Given the description of an element on the screen output the (x, y) to click on. 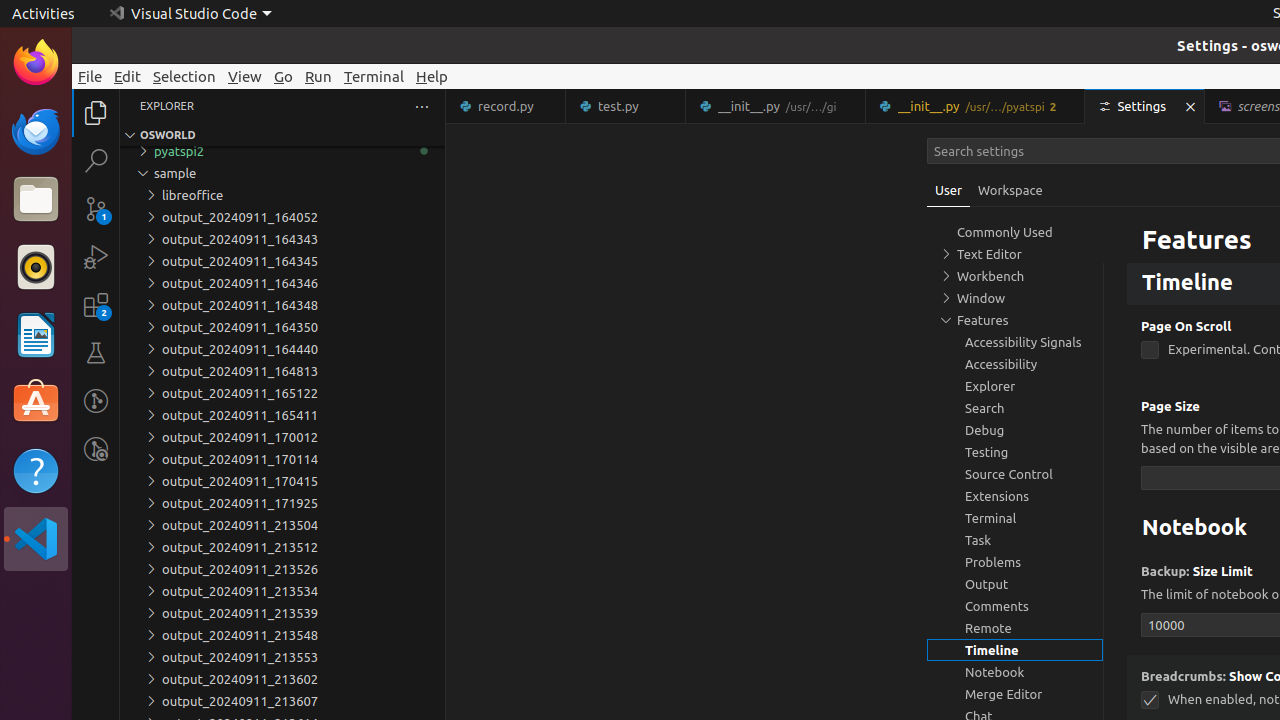
output_20240911_164348 Element type: tree-item (282, 305)
Terminal Element type: push-button (374, 76)
Explorer Section: osworld Element type: push-button (282, 135)
output_20240911_213504 Element type: tree-item (282, 525)
output_20240911_164440 Element type: tree-item (282, 349)
